Given the description of an element on the screen output the (x, y) to click on. 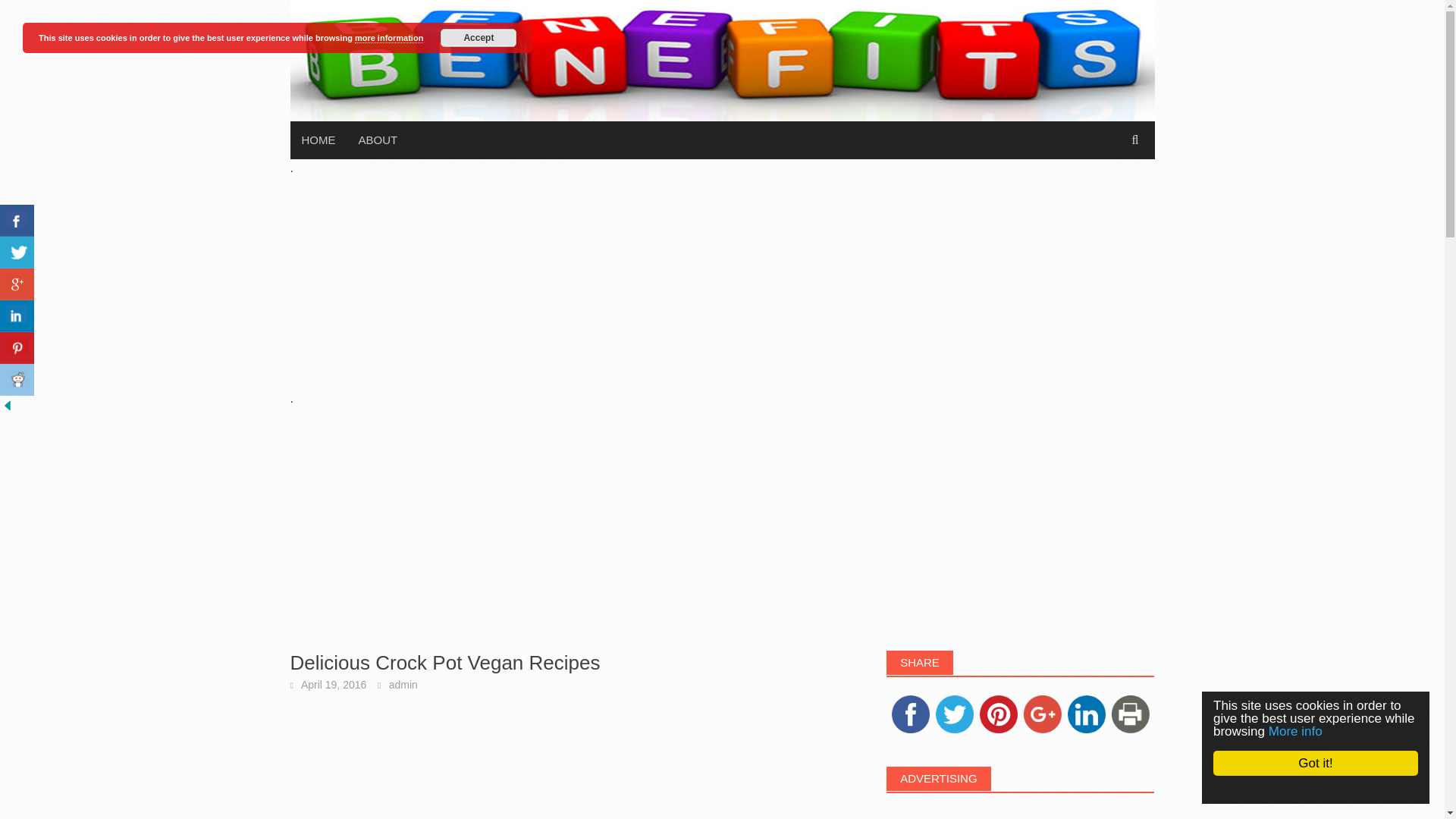
Pinterest (998, 714)
HOME (317, 139)
Cookie Consent plugin for the EU cookie law (1328, 789)
Got it! (1329, 763)
Advertisement (572, 765)
Advertisement (1020, 813)
ABOUT (378, 139)
Facebook (910, 714)
Twitter (954, 714)
April 19, 2016 (333, 684)
admin (402, 684)
LinkedIn (1086, 714)
Print (1130, 714)
